Given the description of an element on the screen output the (x, y) to click on. 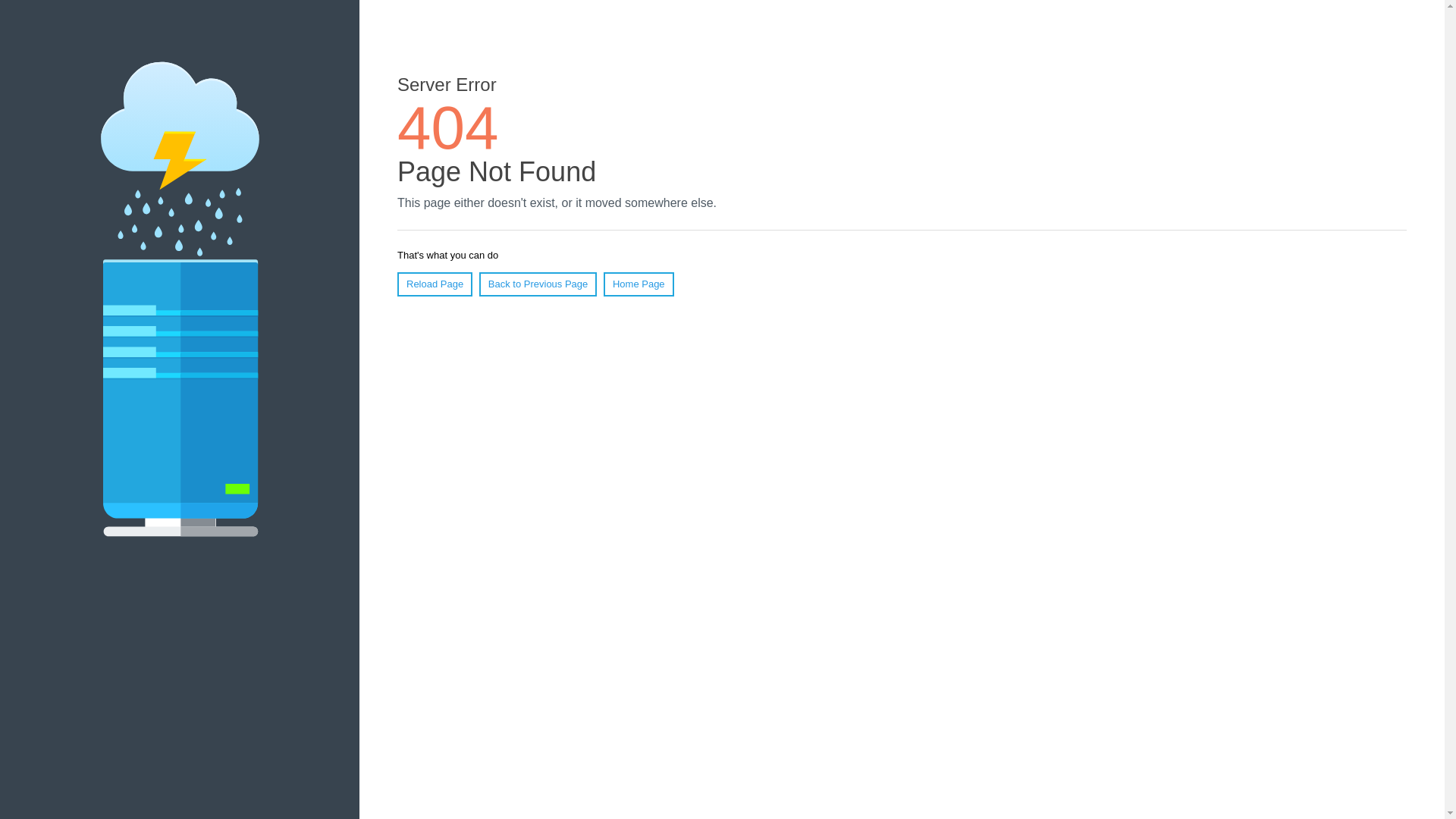
Back to Previous Page Element type: text (538, 284)
Reload Page Element type: text (434, 284)
Home Page Element type: text (638, 284)
